Given the description of an element on the screen output the (x, y) to click on. 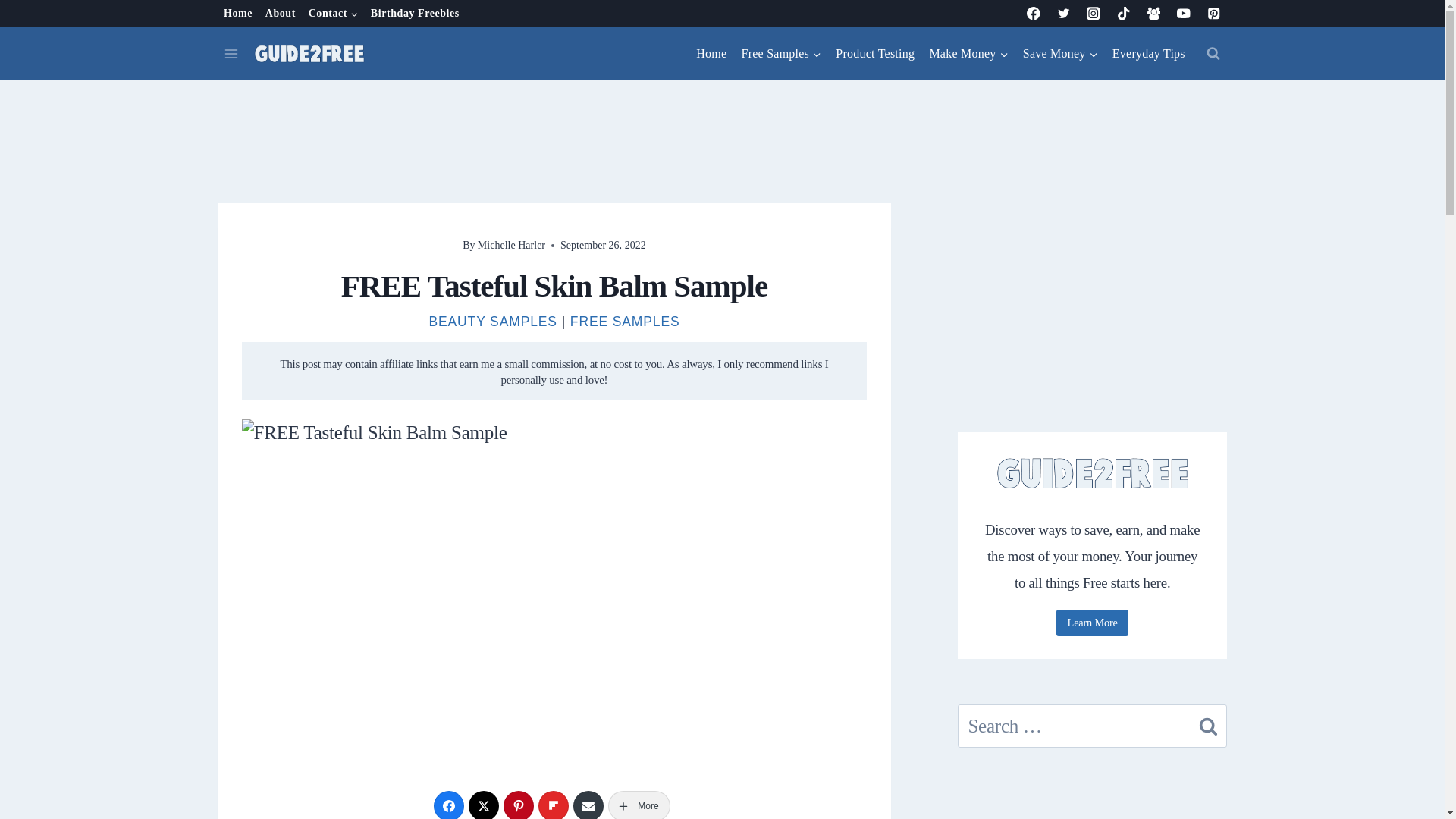
Home (237, 13)
About (280, 13)
Birthday Freebies (414, 13)
Contact (332, 13)
Free Samples (780, 54)
Home (710, 54)
